Given the description of an element on the screen output the (x, y) to click on. 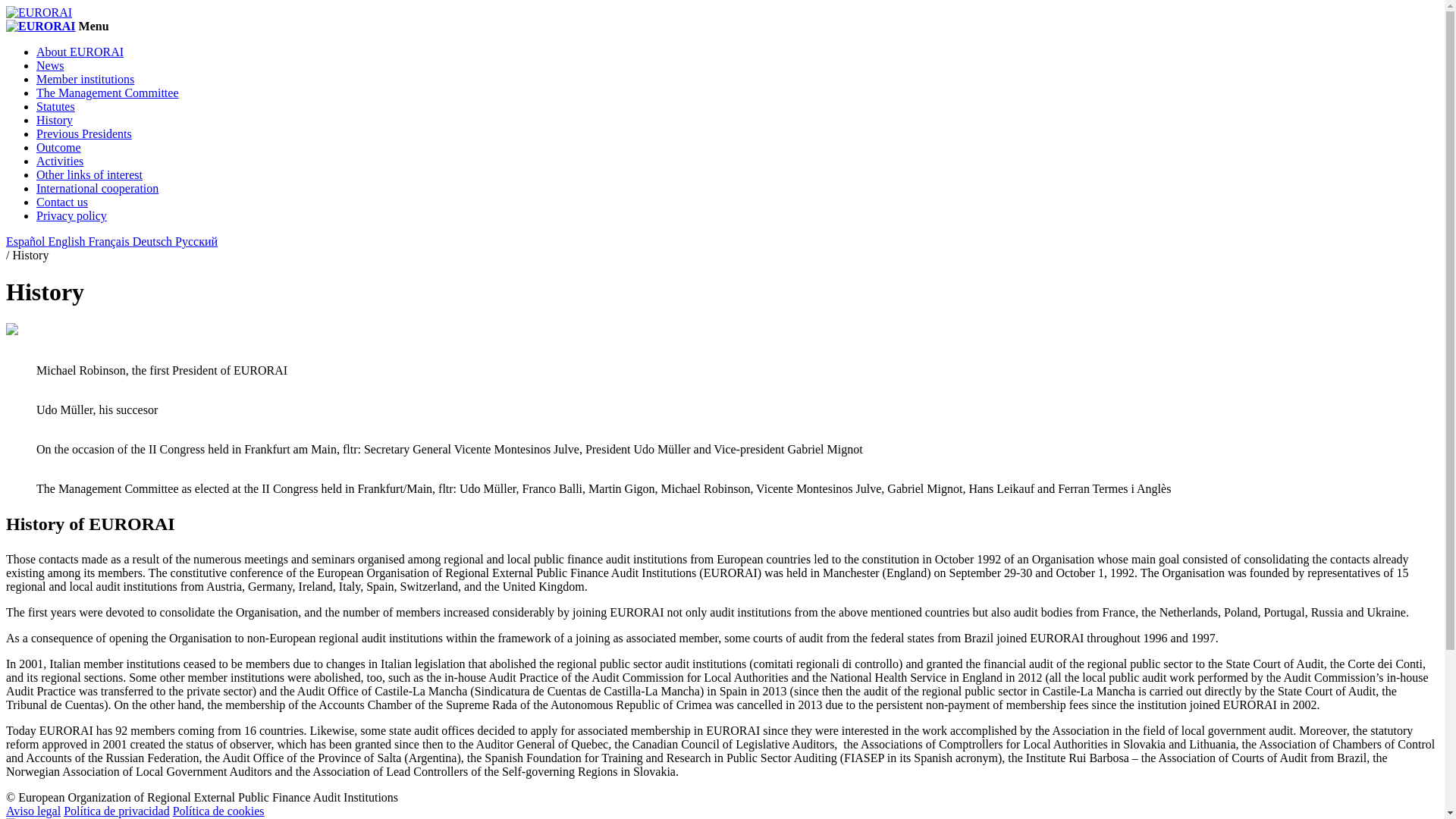
English (68, 241)
History (54, 119)
News (50, 65)
Member institutions (84, 78)
International cooperation (97, 187)
Previous Presidents (84, 133)
EURORAI (40, 25)
Aviso legal (33, 810)
Contact us (61, 201)
